Given the description of an element on the screen output the (x, y) to click on. 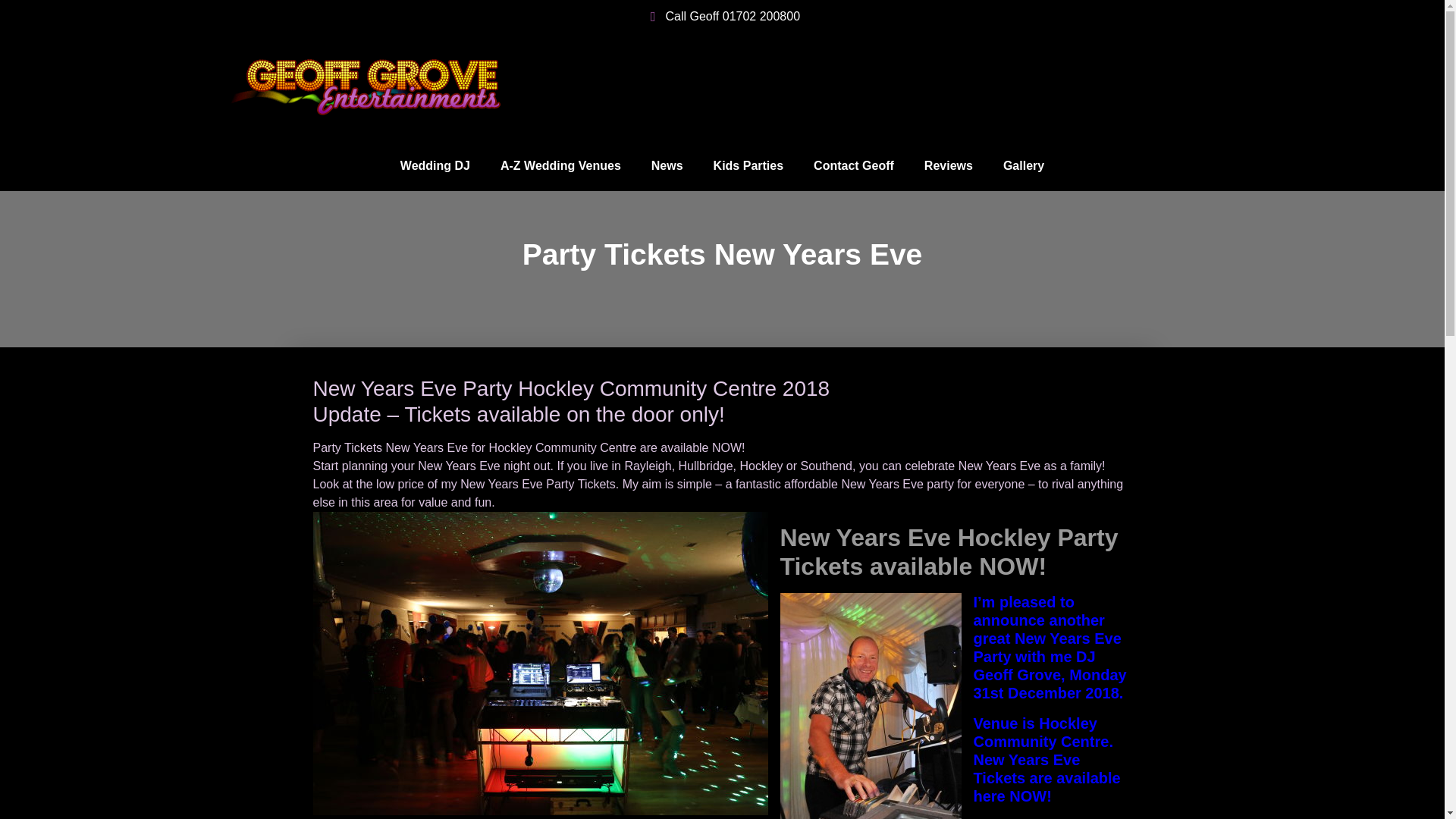
Gallery (1023, 165)
A-Z Wedding Venues (560, 165)
Wedding DJ (434, 165)
Kids Parties (747, 165)
Reviews (948, 165)
News (667, 165)
Contact Geoff (852, 165)
Call Geoff 01702 200800 (722, 16)
